Given the description of an element on the screen output the (x, y) to click on. 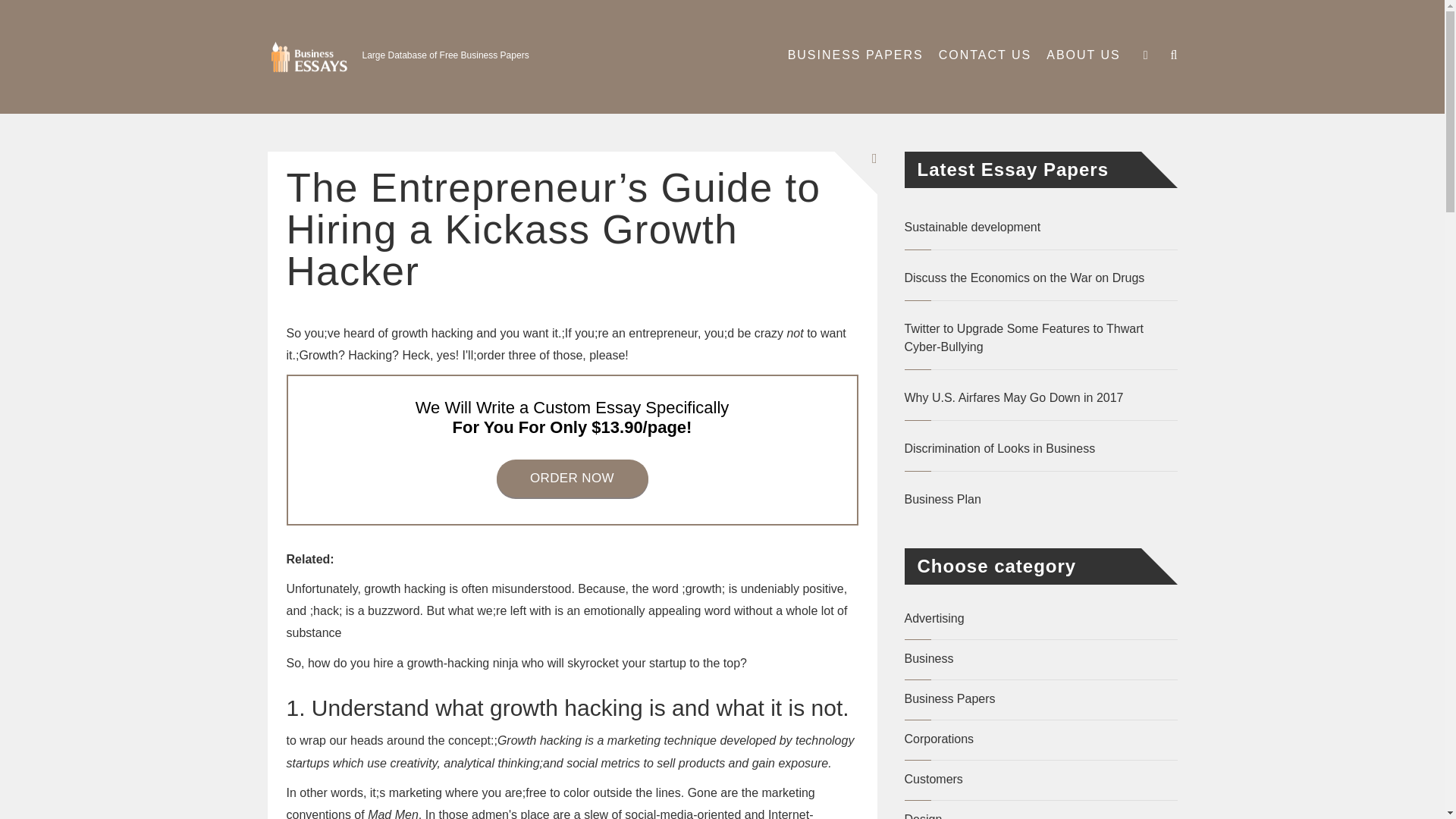
CONTACT US (985, 55)
Customers (933, 779)
Business Plan (1040, 499)
ORDER NOW (571, 478)
Twitter to Upgrade Some Features to Thwart Cyber-Bullying (1040, 338)
ABOUT US (1080, 55)
Sustainable development (1040, 227)
BUSINESS PAPERS (855, 55)
Corporations (939, 738)
Business Papers (949, 698)
